Given the description of an element on the screen output the (x, y) to click on. 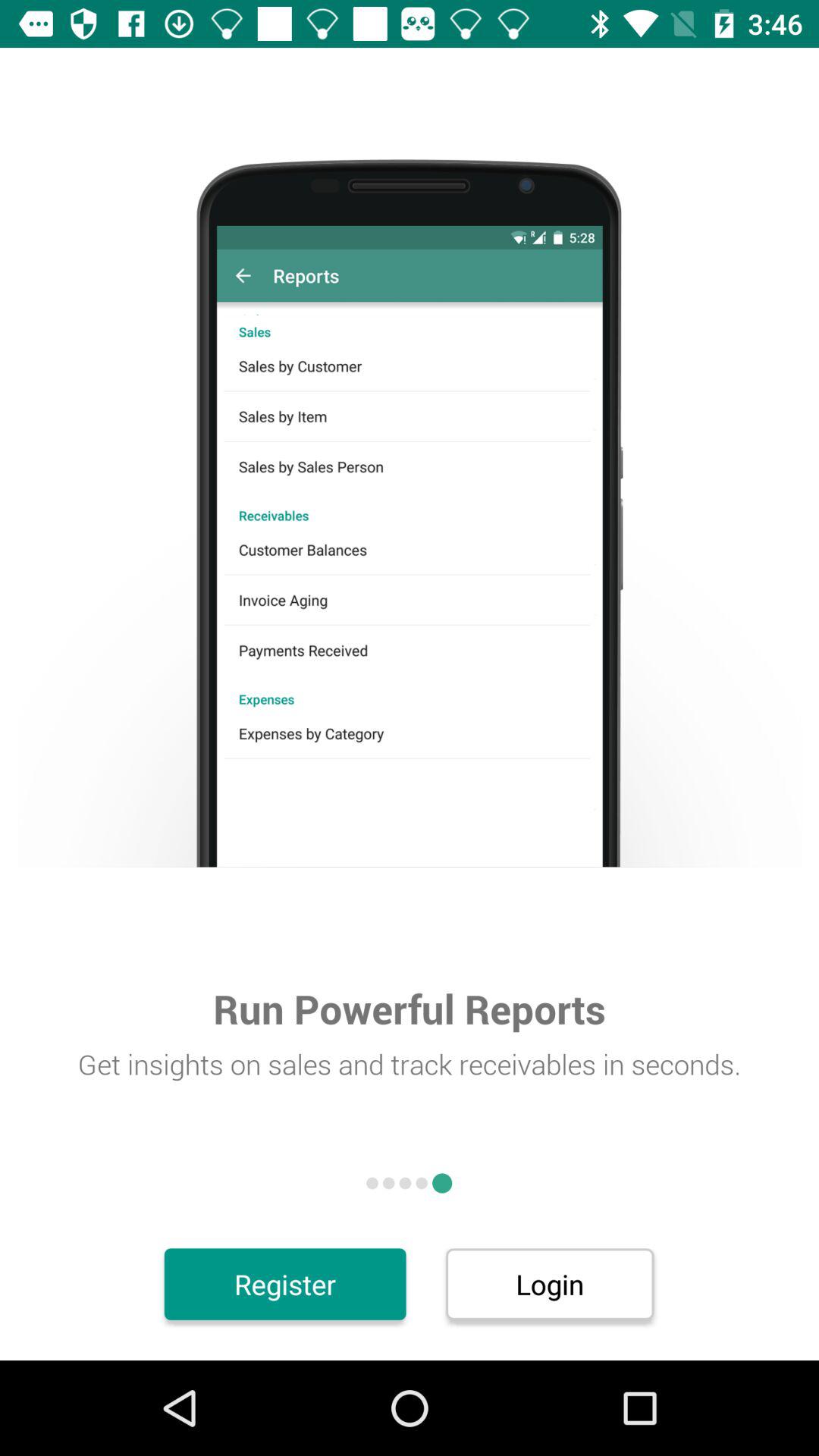
open the register item (285, 1284)
